Given the description of an element on the screen output the (x, y) to click on. 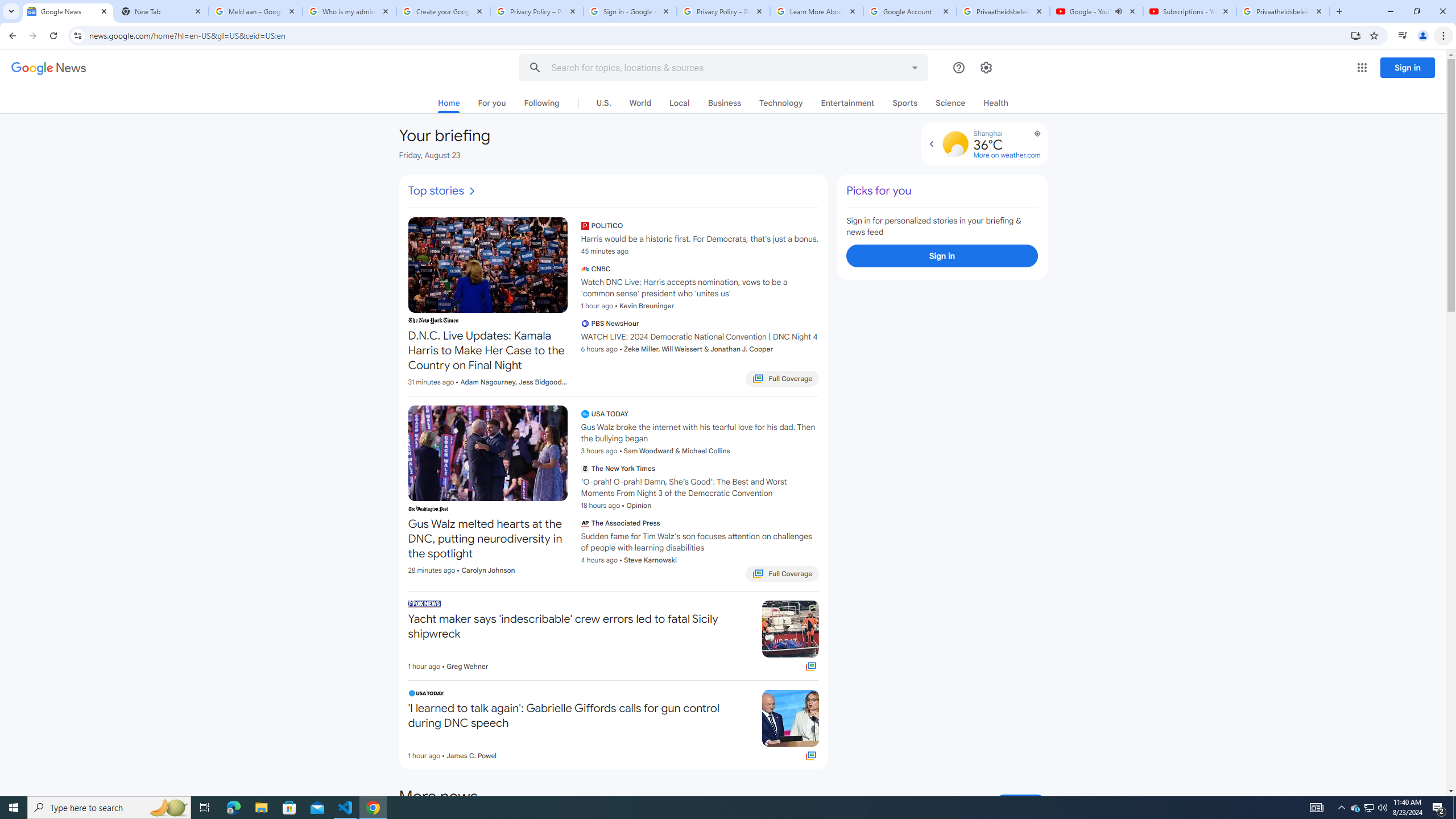
For you (491, 102)
Search for topics, locations & sources (711, 67)
Sports (904, 102)
Who is my administrator? - Google Account Help (349, 11)
